Given the description of an element on the screen output the (x, y) to click on. 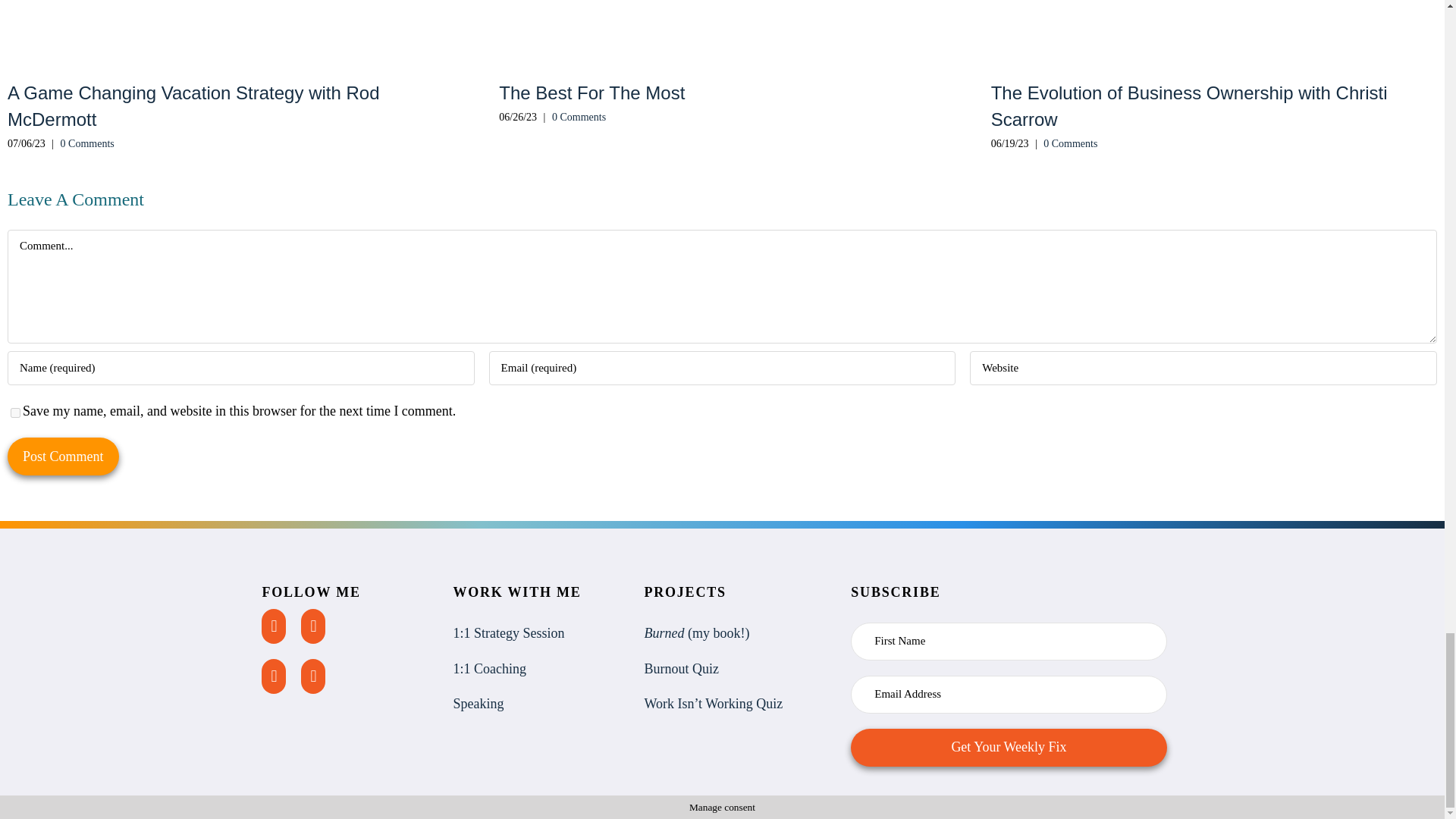
Post Comment (63, 456)
The Best For The Most (591, 92)
A Game Changing Vacation Strategy with Rod McDermott (193, 105)
yes (15, 412)
Get Your Weekly Fix (1008, 747)
The Best For The Most (591, 92)
0 Comments (88, 143)
A Game Changing Vacation Strategy with Rod McDermott (193, 105)
The Evolution of Business Ownership with Christi Scarrow (1189, 105)
